Given the description of an element on the screen output the (x, y) to click on. 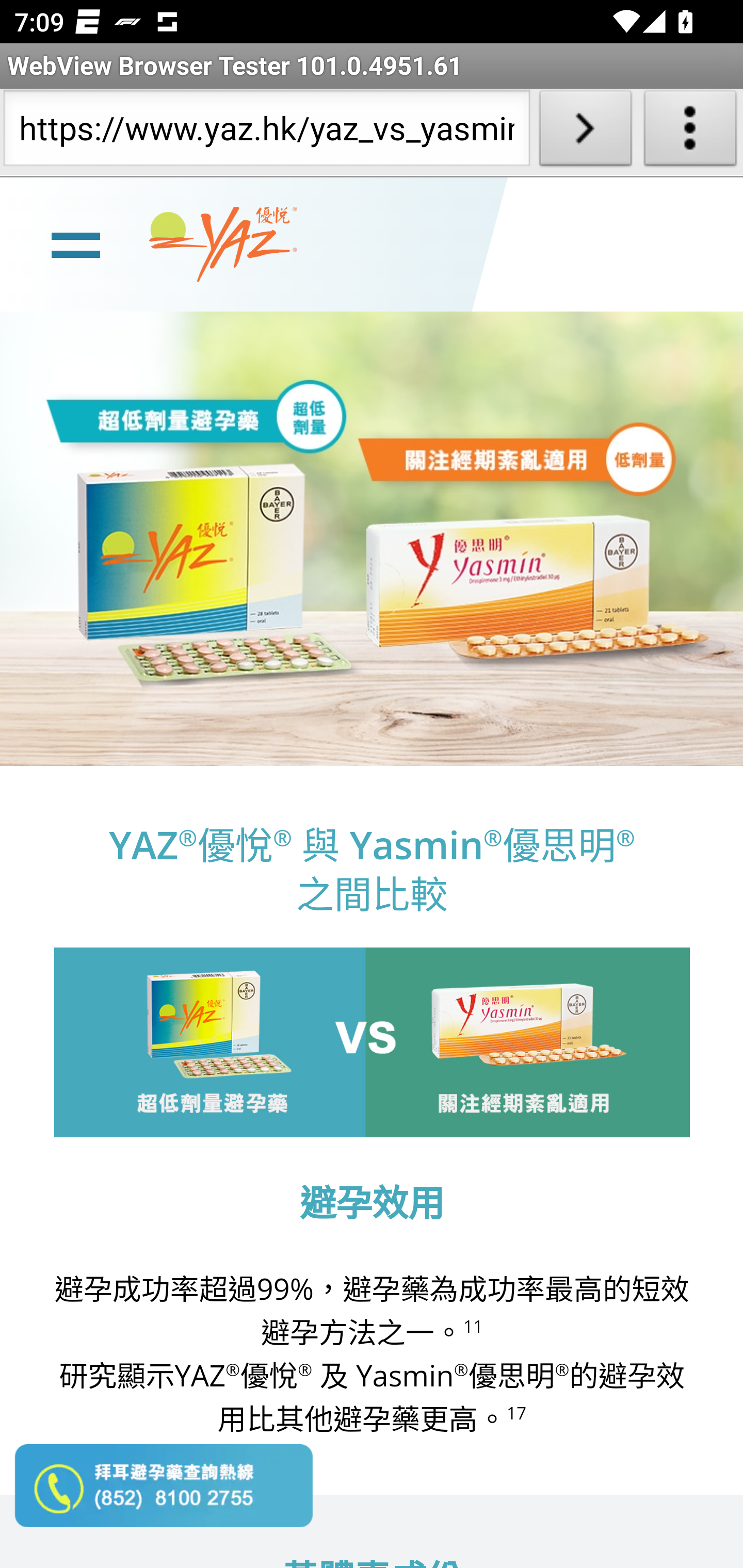
Load URL (585, 132)
About WebView (690, 132)
www.yaz (222, 244)
line Toggle burger menu (75, 242)
